Given the description of an element on the screen output the (x, y) to click on. 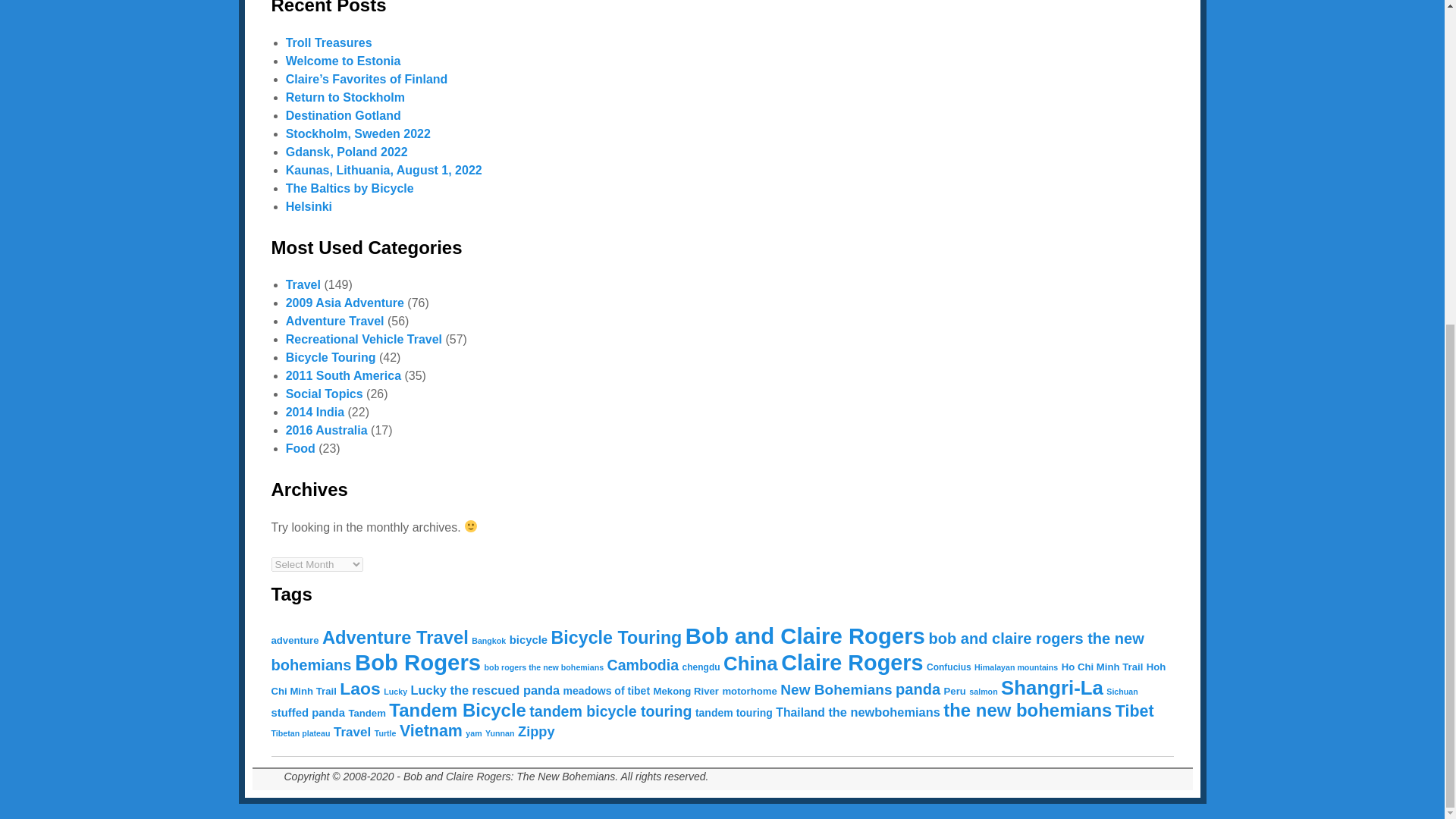
2011 South America (343, 375)
Stockholm, Sweden 2022 (357, 133)
Bicycle Touring (330, 357)
Gdansk, Poland 2022 (346, 151)
Kaunas, Lithuania, August 1, 2022 (383, 169)
Troll Treasures (328, 42)
Adventure Travel (334, 320)
Recreational Vehicle Travel (363, 338)
Travel (302, 284)
Return to Stockholm (344, 97)
Social Topics (323, 393)
2009 Asia Adventure (344, 302)
Helsinki (308, 205)
Welcome to Estonia (343, 60)
Destination Gotland (343, 115)
